Given the description of an element on the screen output the (x, y) to click on. 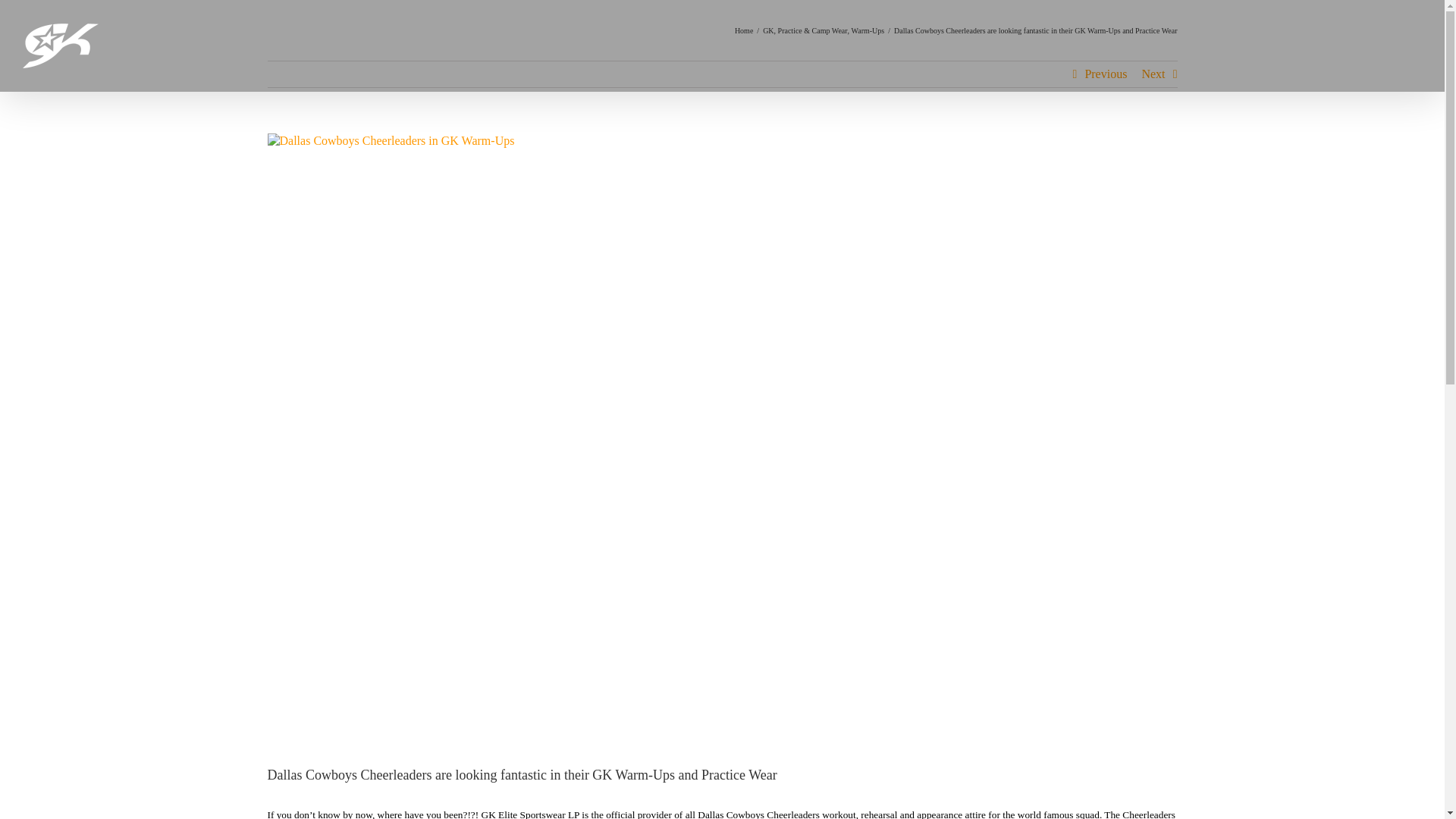
GK (767, 29)
Next (1152, 73)
Home (743, 29)
Warm-Ups (868, 29)
Previous (1105, 73)
